Given the description of an element on the screen output the (x, y) to click on. 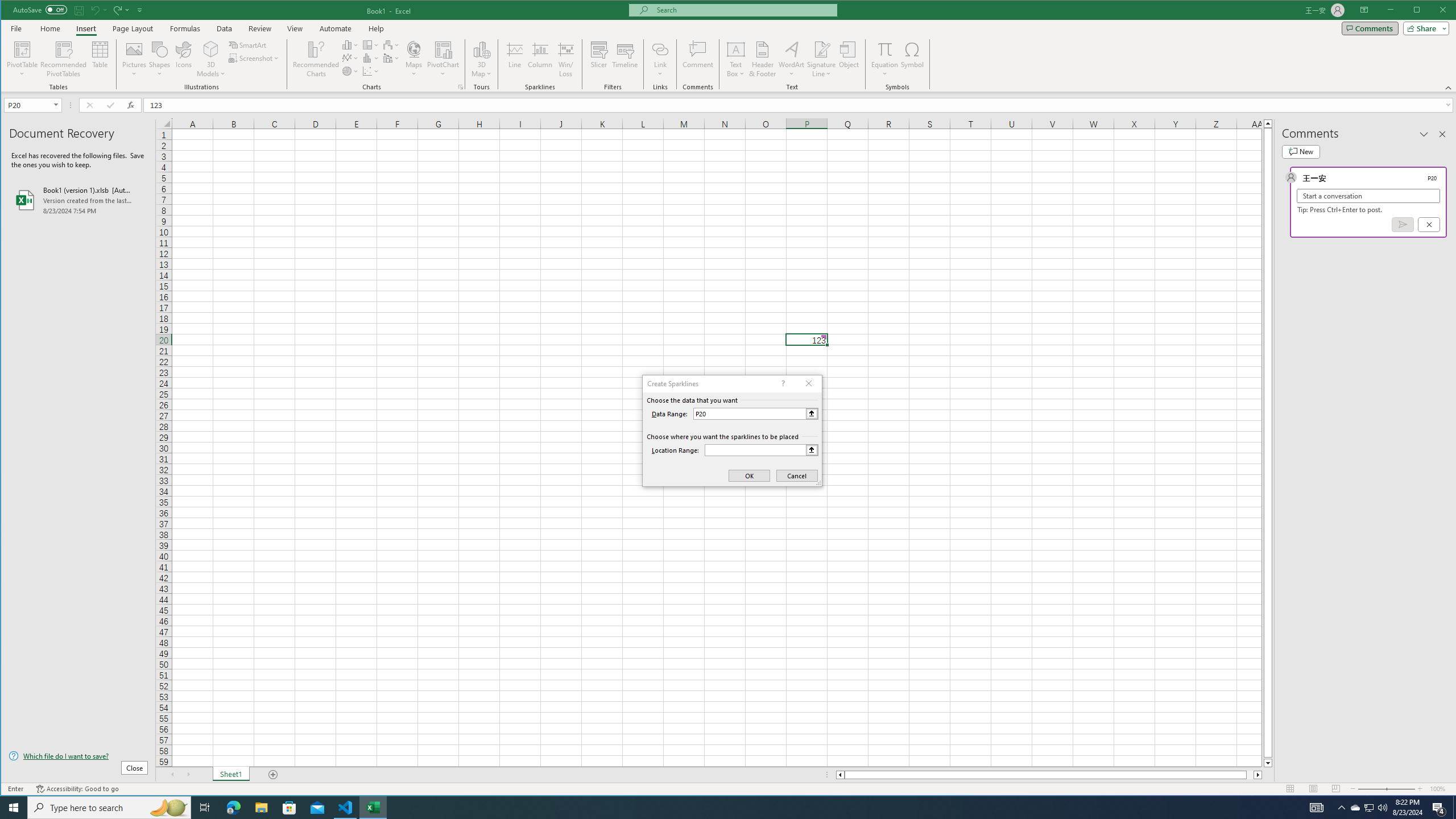
WordArt (791, 59)
Table (100, 59)
Cancel (1428, 224)
Column (540, 59)
Header & Footer... (762, 59)
Recommended PivotTables (63, 59)
Pictures (134, 59)
